Given the description of an element on the screen output the (x, y) to click on. 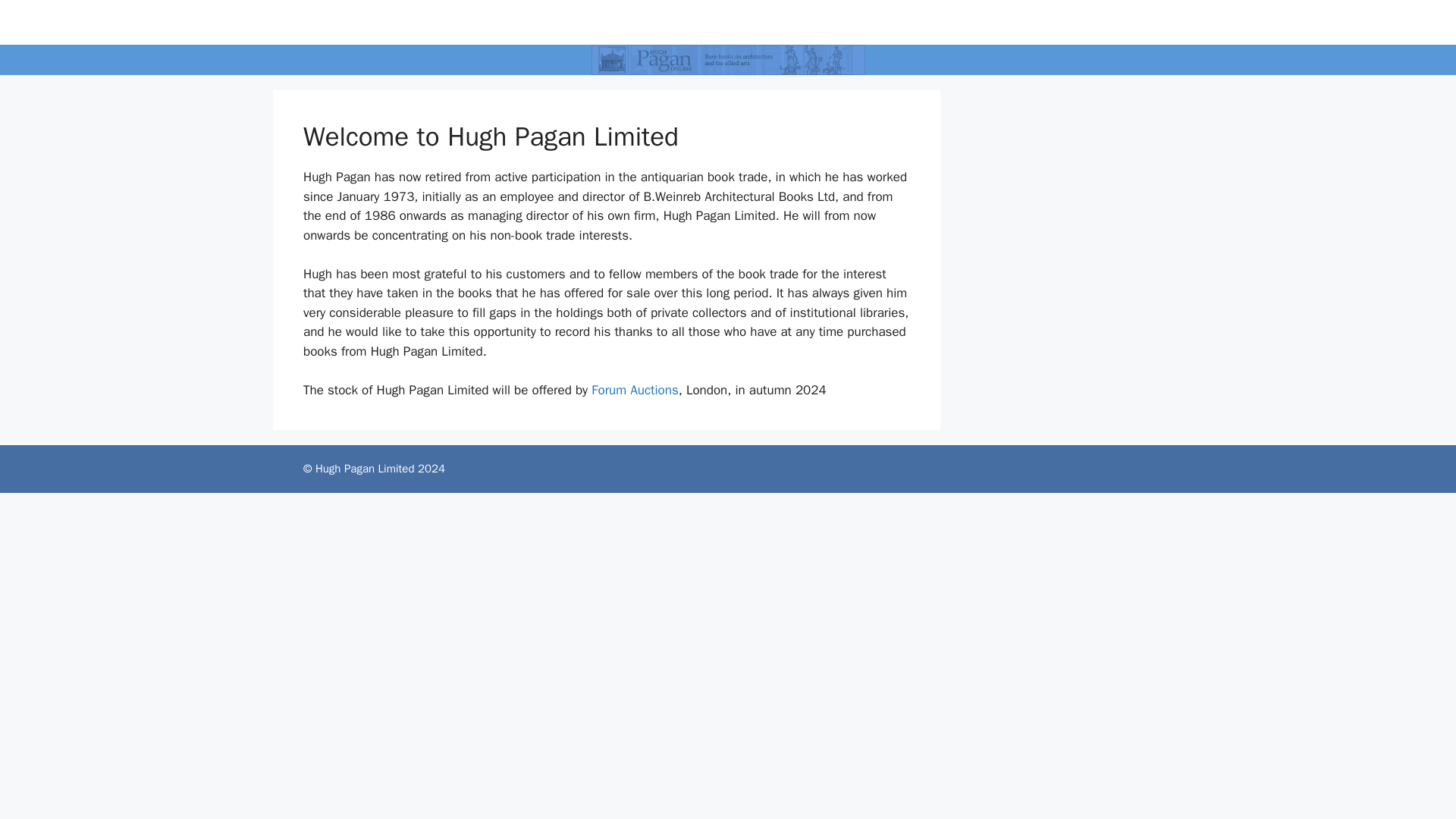
Forum Auctions (634, 390)
